Given the description of an element on the screen output the (x, y) to click on. 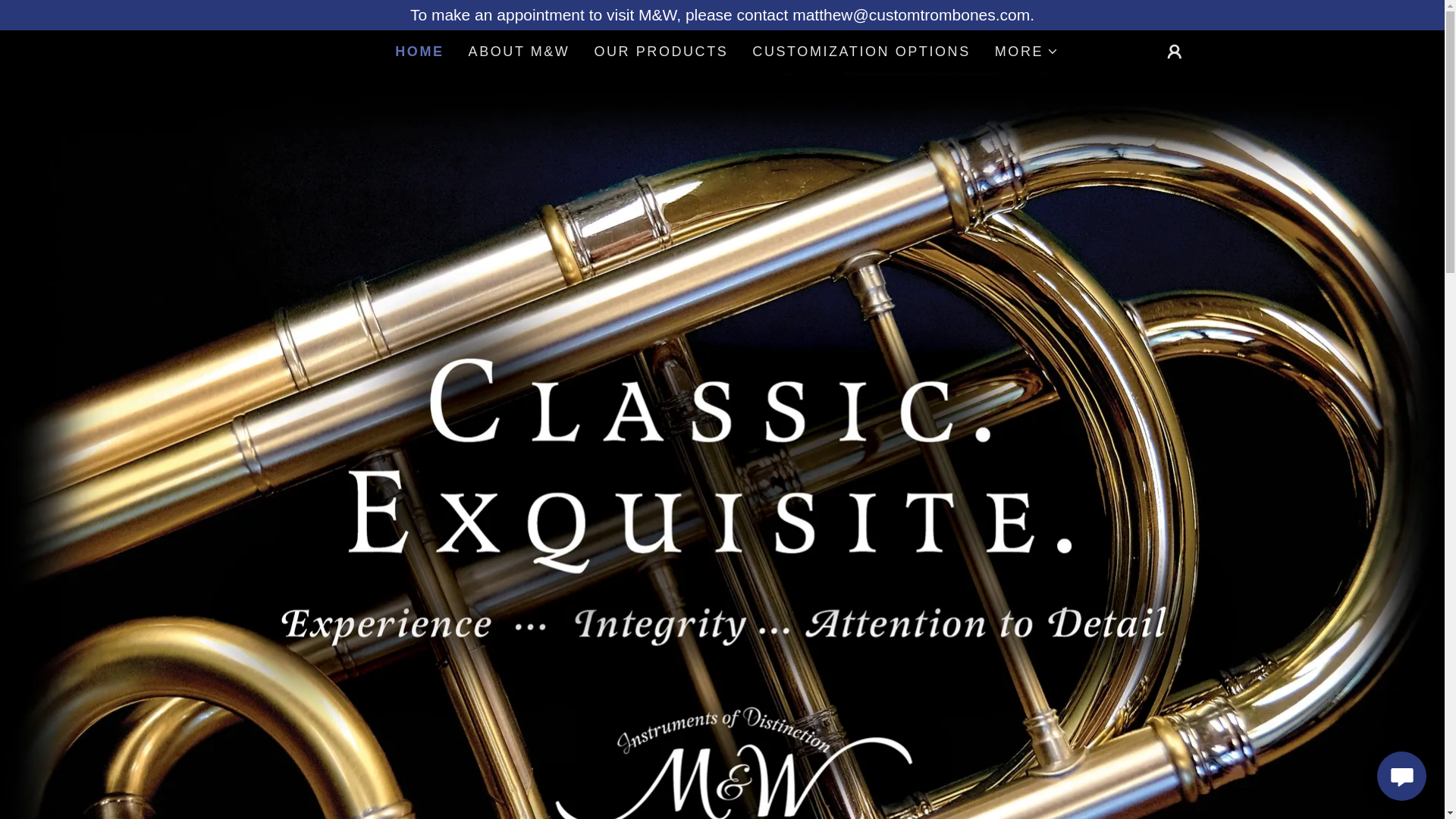
MORE (1026, 51)
HOME (419, 51)
OUR PRODUCTS (660, 51)
CUSTOMIZATION OPTIONS (861, 51)
